Given the description of an element on the screen output the (x, y) to click on. 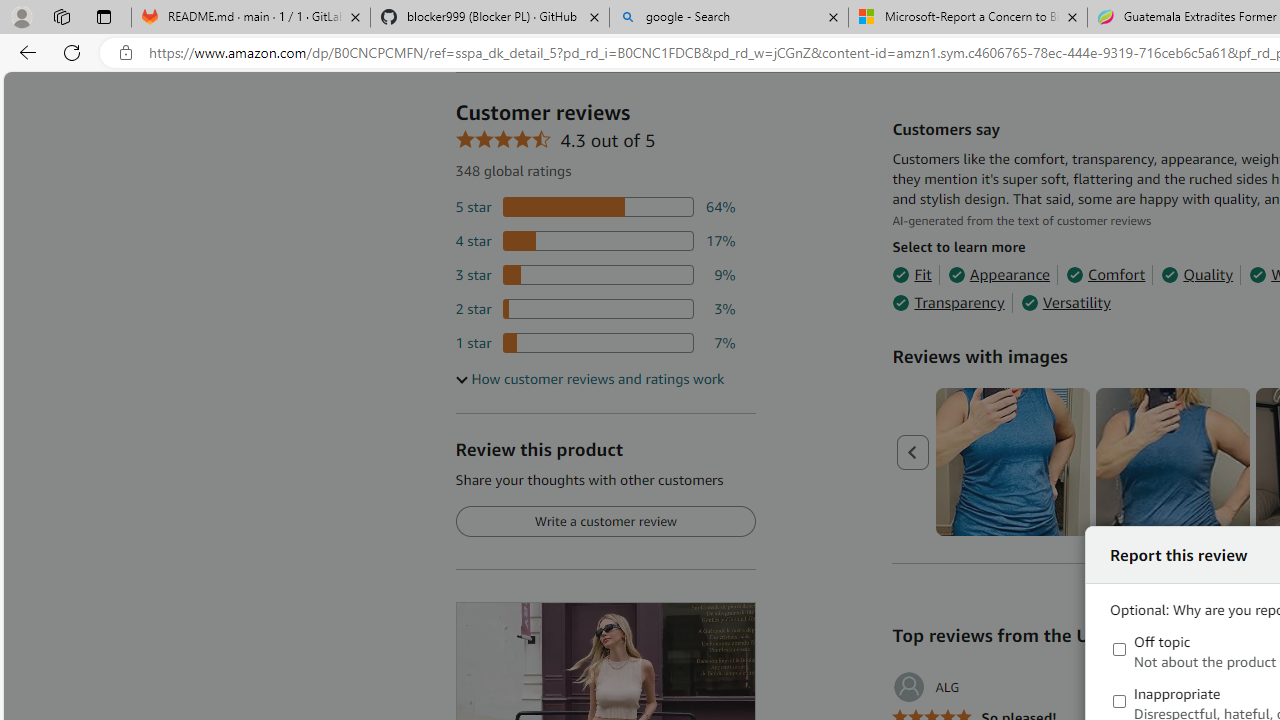
ALG (926, 687)
Class: a-carousel-card (1173, 462)
How customer reviews and ratings work (589, 379)
Customer Image (1172, 462)
7 percent of reviews have 1 stars (595, 343)
17 percent of reviews have 4 stars (595, 241)
Write a customer review (605, 521)
64 percent of reviews have 5 stars (595, 207)
